Given the description of an element on the screen output the (x, y) to click on. 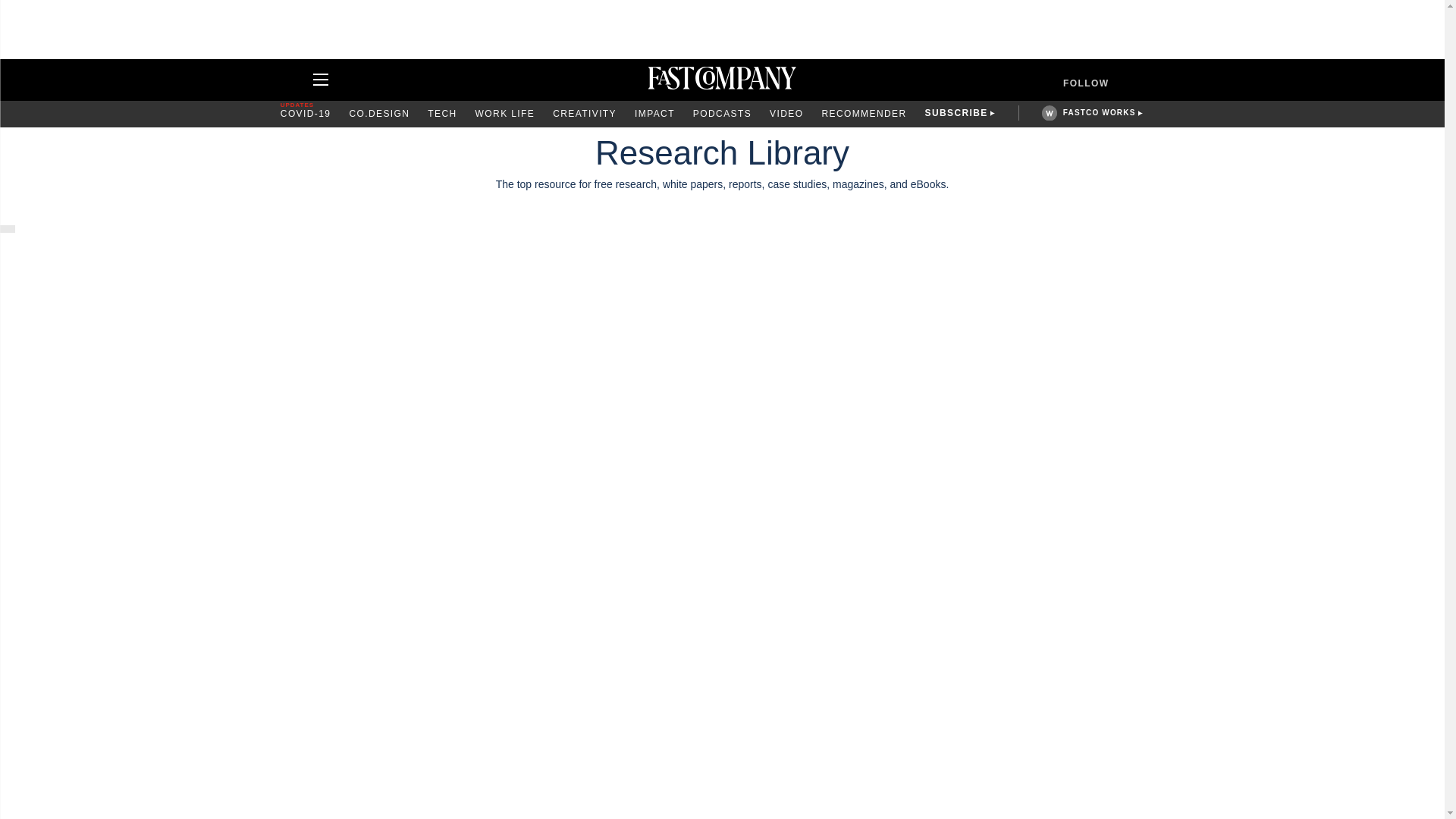
WORK LIFE (505, 113)
Recommender (863, 113)
Video (786, 113)
RECOMMENDER (863, 113)
CREATIVITY (584, 113)
COVID-19 (306, 113)
Fast Company (721, 79)
Podcasts (722, 113)
COVID-19 (306, 113)
FASTCO WORKS (1098, 112)
Co.Design (379, 113)
TECH (442, 113)
VIDEO (786, 113)
IMPACT (654, 113)
SUBSCRIBE (956, 113)
